Given the description of an element on the screen output the (x, y) to click on. 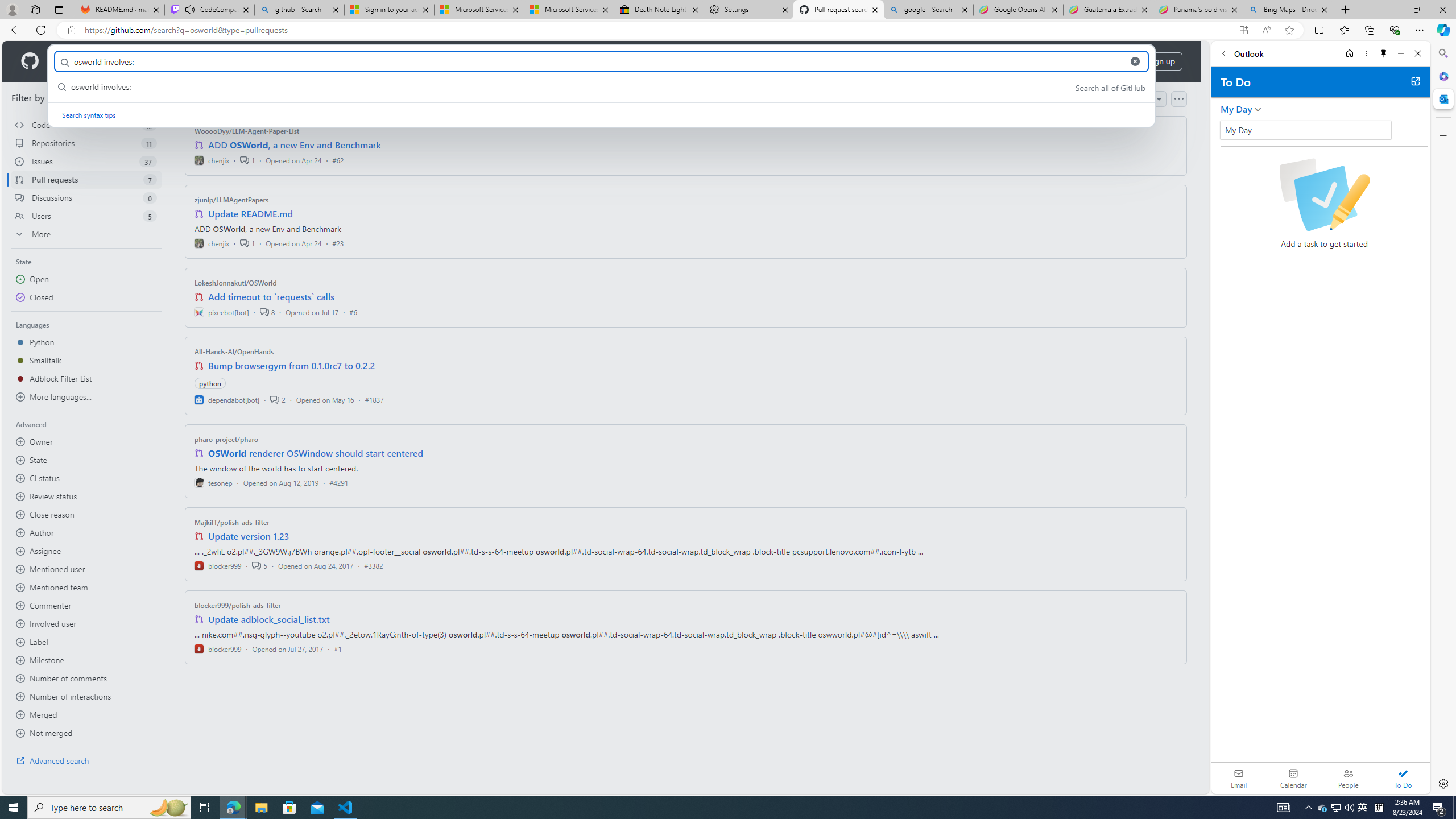
More languages... (86, 397)
#62 (337, 159)
Update adblock_social_list.txt (269, 619)
Add a task (1228, 133)
LokeshJonnakuti/OSWorld (235, 282)
Update version 1.23 (248, 535)
Enterprise (319, 60)
Open Source (254, 60)
#6 (352, 311)
